Given the description of an element on the screen output the (x, y) to click on. 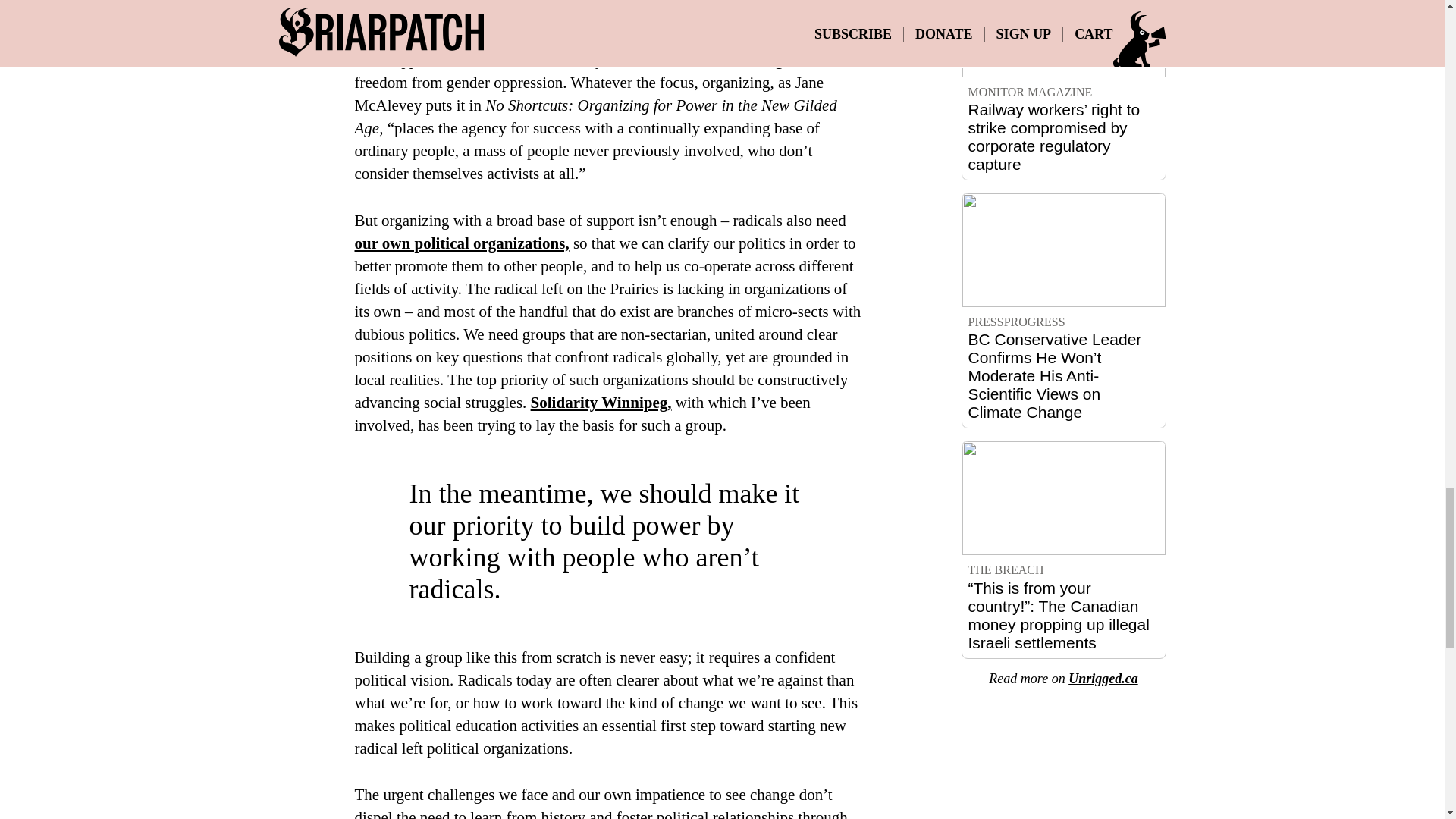
our own political organizations, (462, 243)
Saskatchewan Transportation Company (513, 36)
Solidarity Winnipeg, (601, 402)
